Given the description of an element on the screen output the (x, y) to click on. 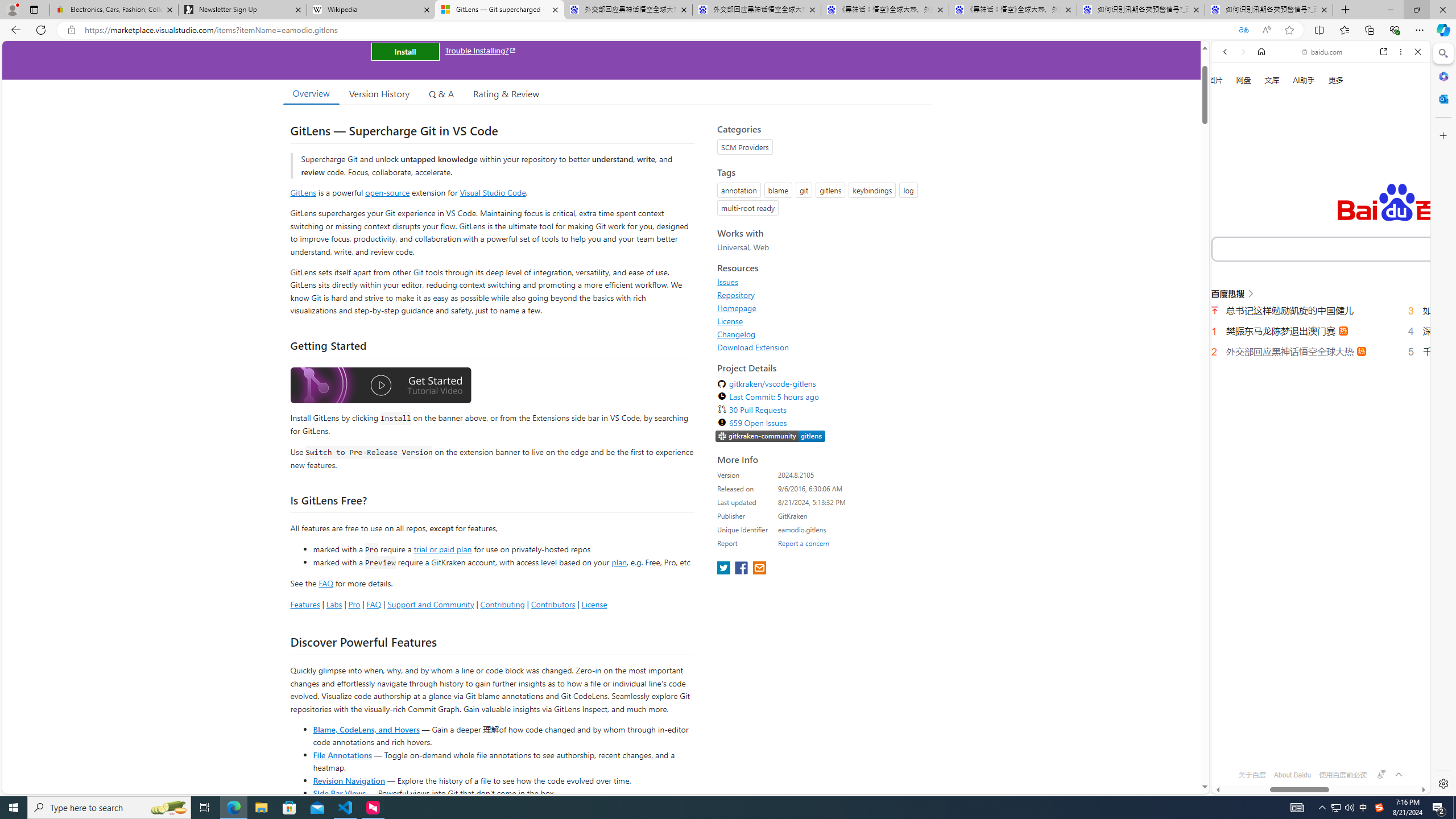
trial or paid plan (442, 548)
Watch the GitLens Getting Started video (380, 387)
Repository (820, 294)
